Given the description of an element on the screen output the (x, y) to click on. 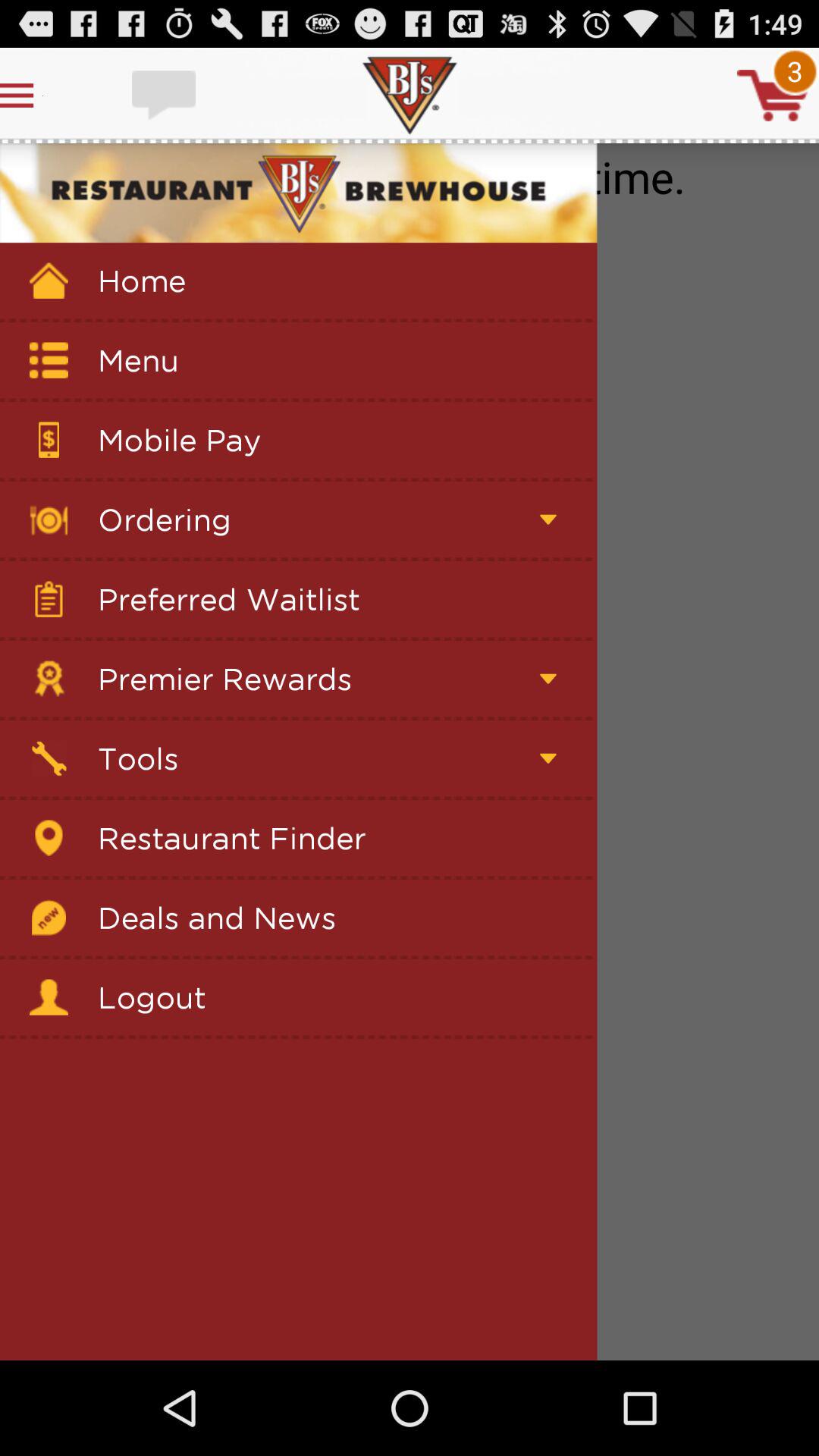
write comment (165, 95)
